Given the description of an element on the screen output the (x, y) to click on. 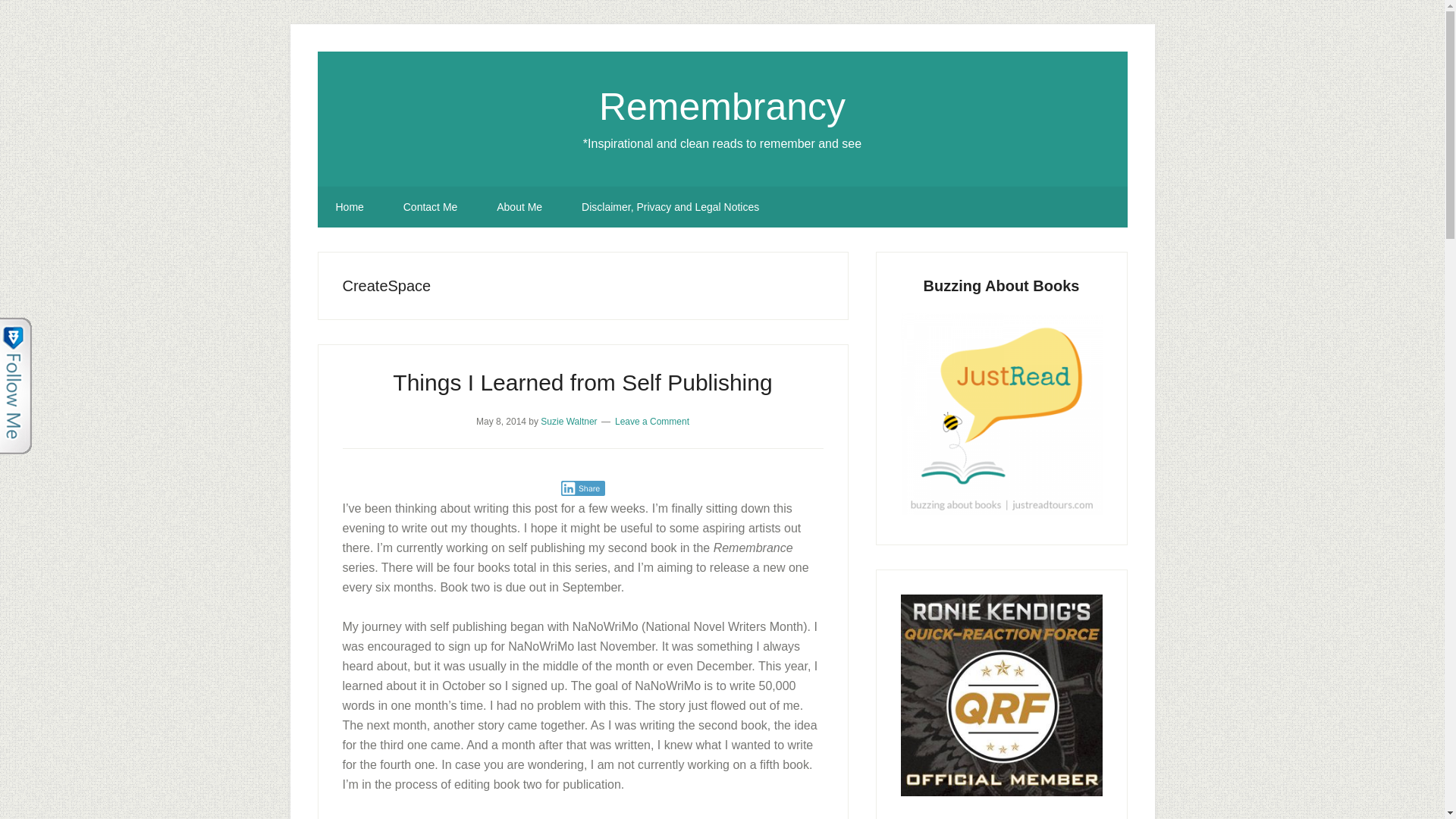
Share (582, 488)
Leave a Comment (651, 421)
About Me (519, 206)
Suzie Waltner (568, 421)
Home (349, 206)
Disclaimer, Privacy and Legal Notices (670, 206)
Things I Learned from Self Publishing (582, 382)
Remembrancy (721, 106)
Contact Me (430, 206)
